Given the description of an element on the screen output the (x, y) to click on. 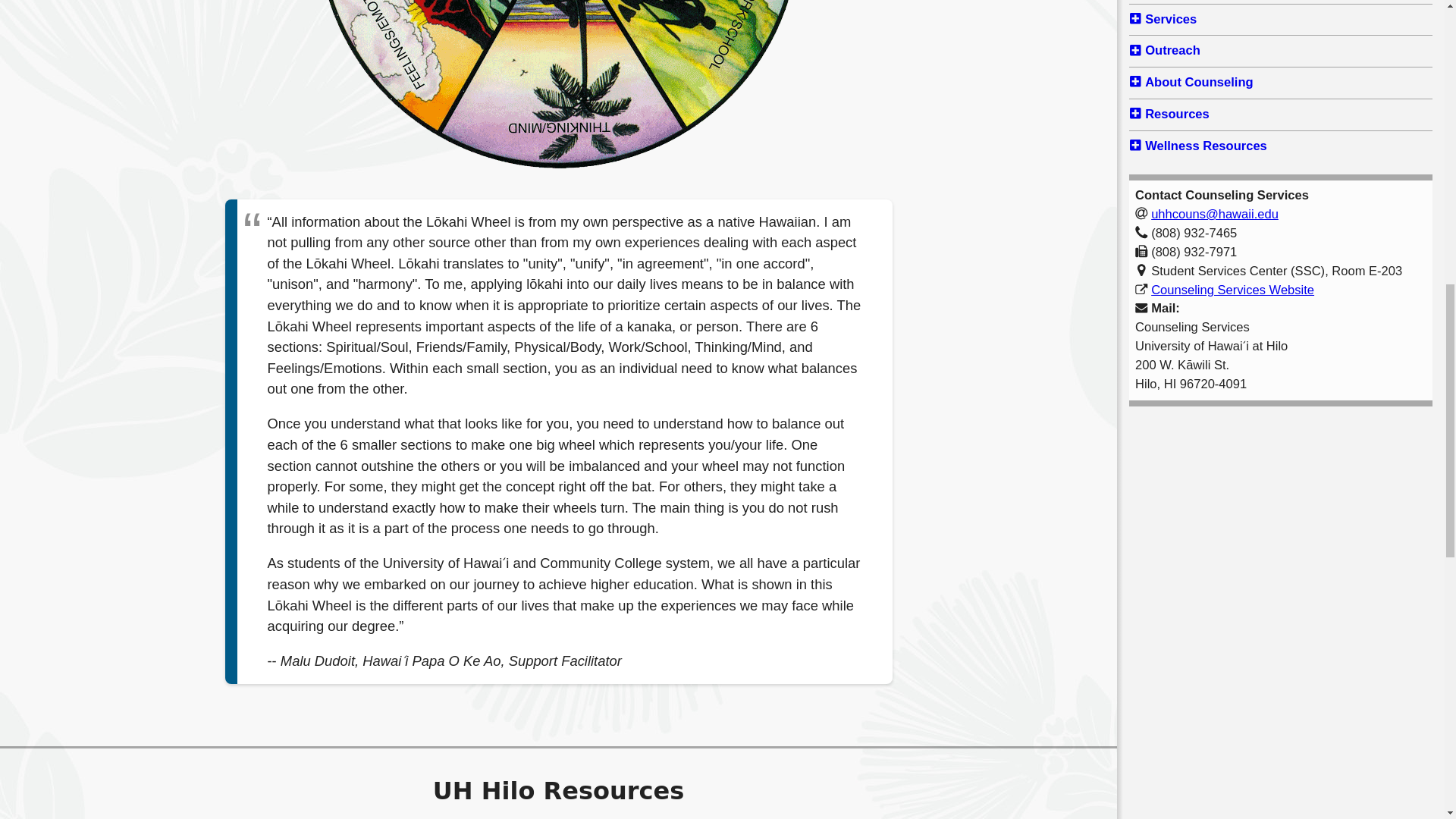
Counseling Services Website (1232, 289)
